Given the description of an element on the screen output the (x, y) to click on. 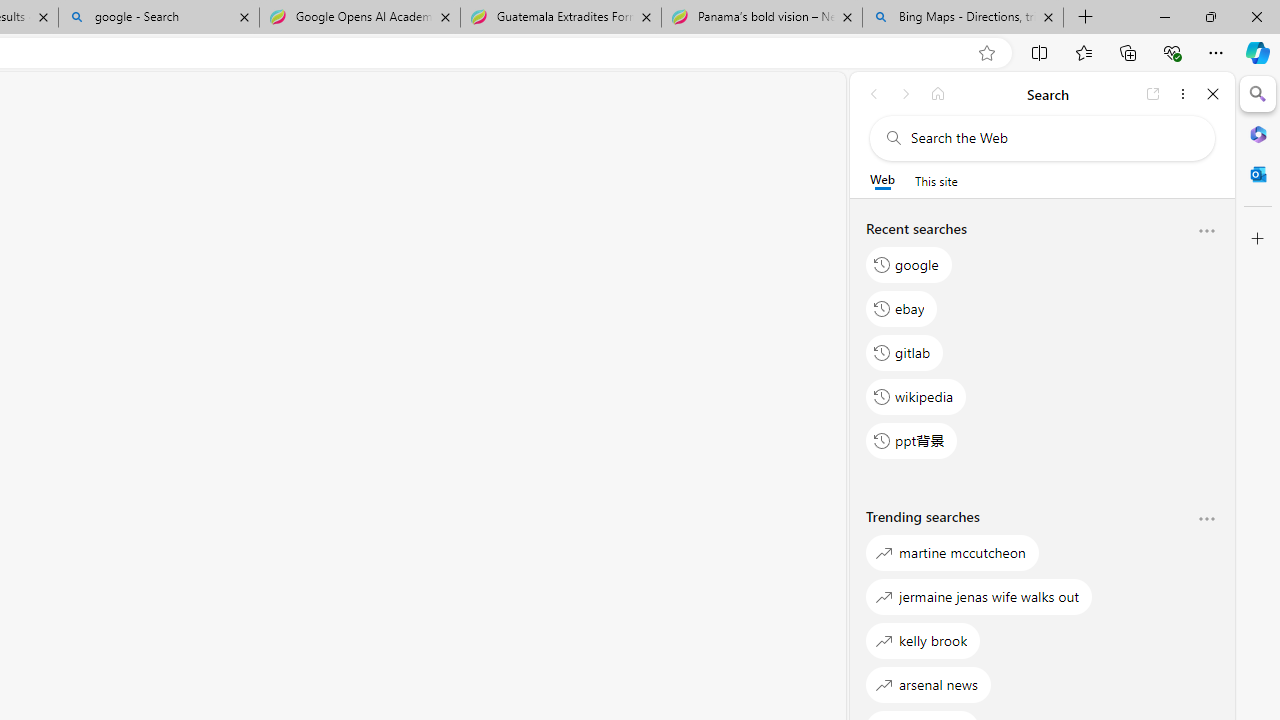
gitlab (905, 352)
Google Opens AI Academy for Startups - Nearshore Americas (359, 17)
ebay (902, 308)
kelly brook (923, 640)
